Given the description of an element on the screen output the (x, y) to click on. 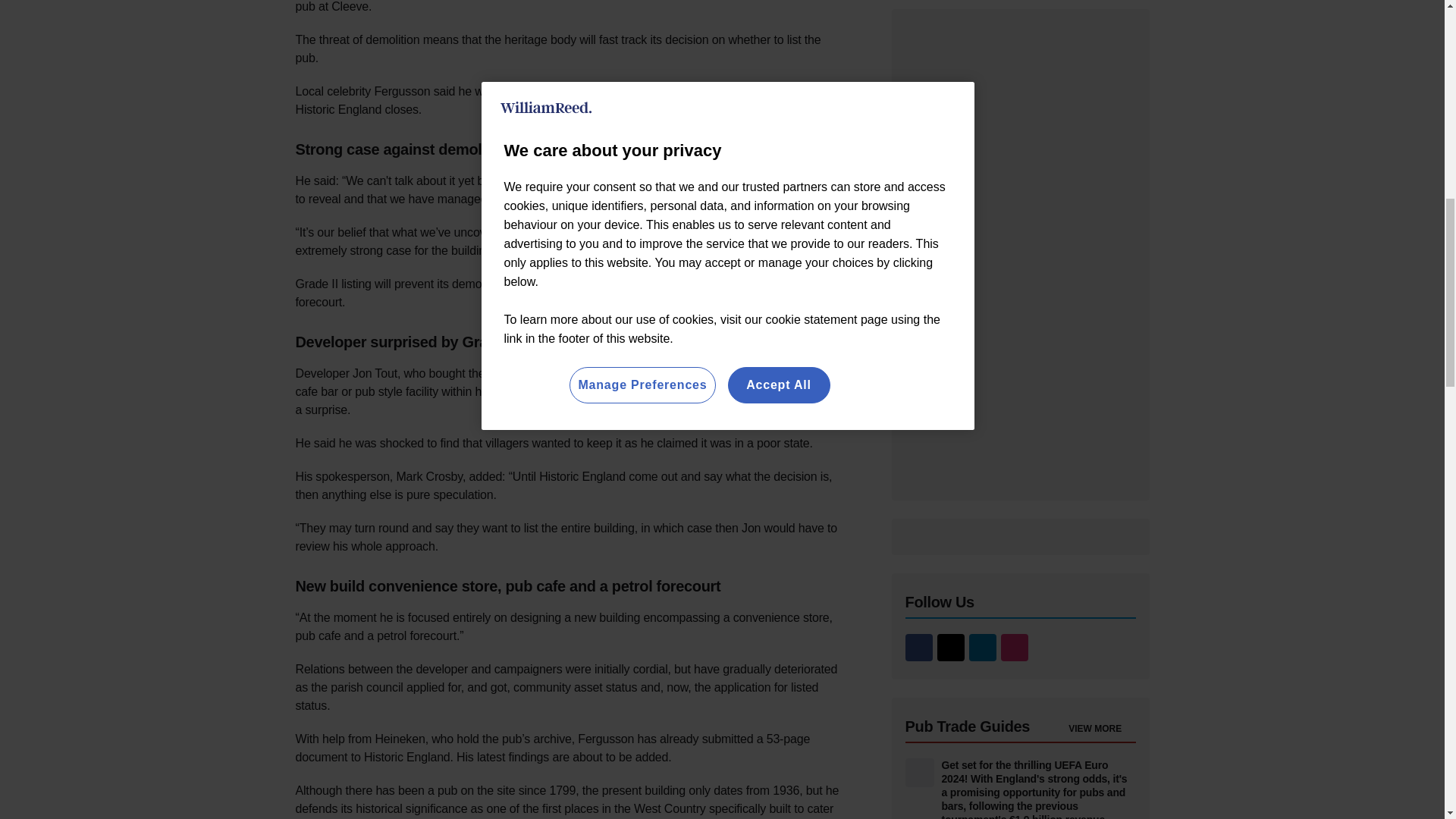
3rd party ad content (1020, 254)
